Given the description of an element on the screen output the (x, y) to click on. 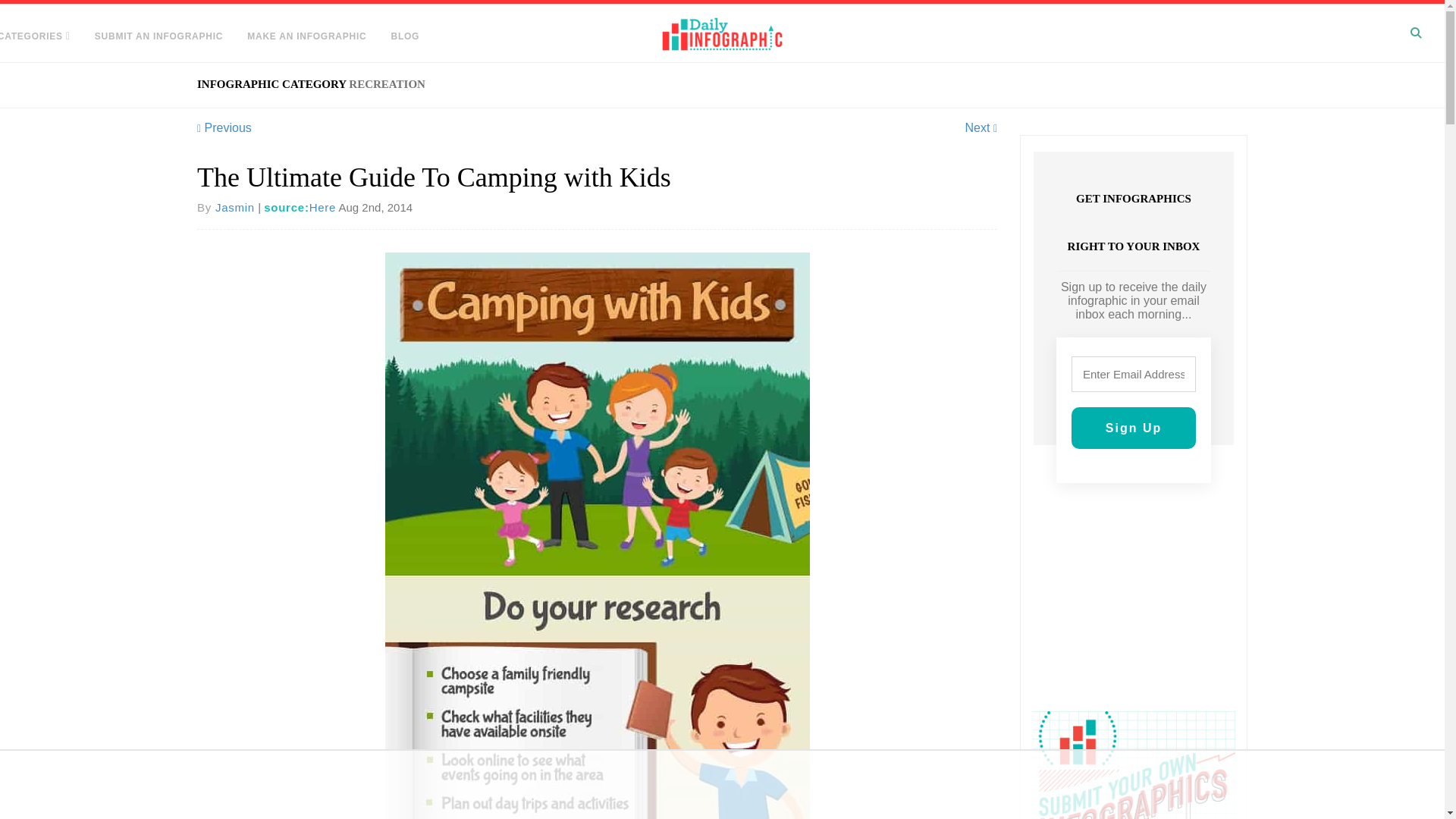
SUBMIT AN INFOGRAPHIC (158, 36)
CATEGORIES (40, 36)
MAKE AN INFOGRAPHIC (306, 36)
Posts by Jasmin (234, 206)
